Given the description of an element on the screen output the (x, y) to click on. 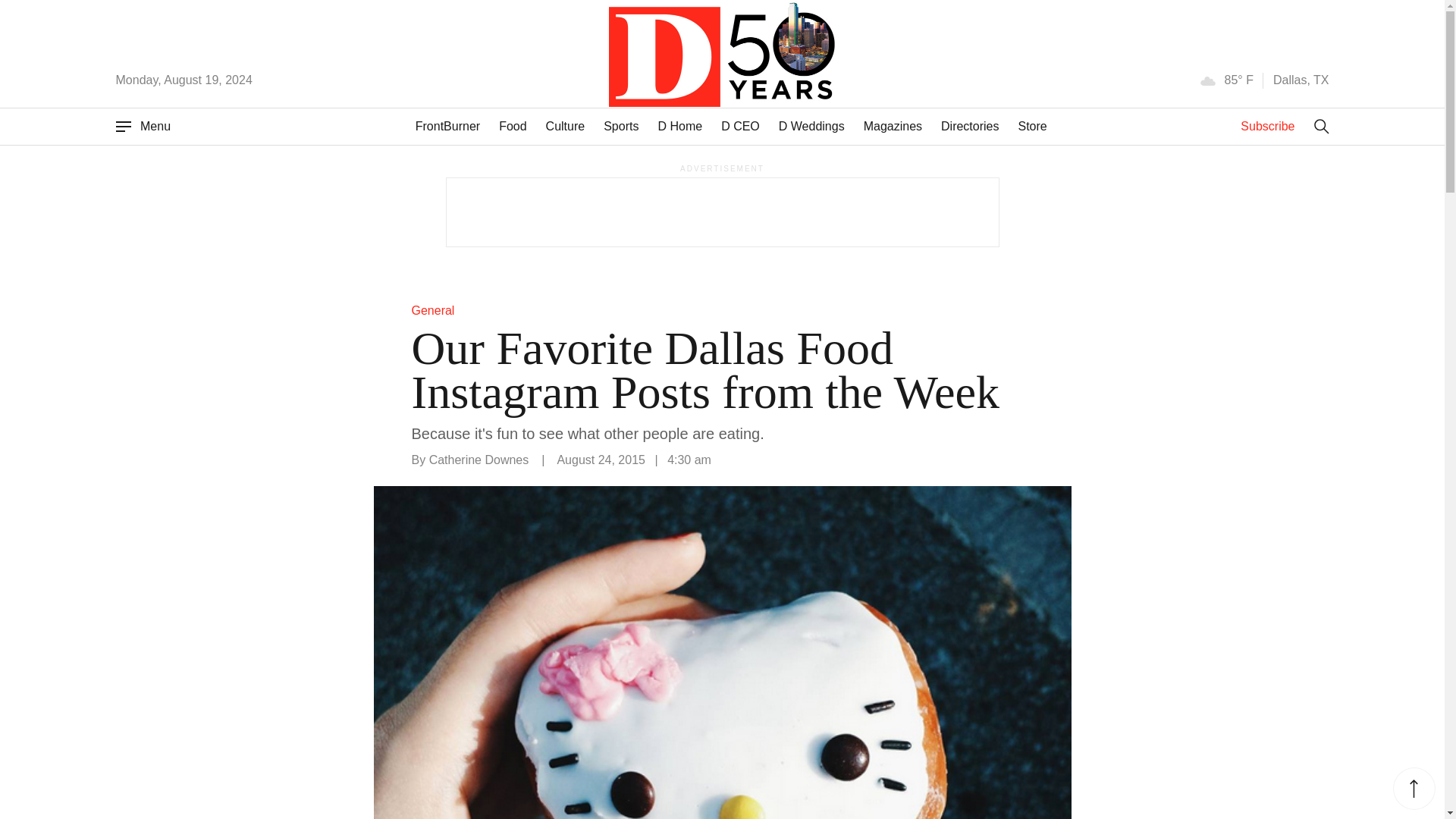
D Weddings (811, 126)
FrontBurner (447, 126)
Store (1031, 126)
Food (512, 126)
D Home (679, 126)
Subscribe (1267, 125)
Culture (565, 126)
Magazines (892, 126)
3rd party ad content (721, 212)
